Given the description of an element on the screen output the (x, y) to click on. 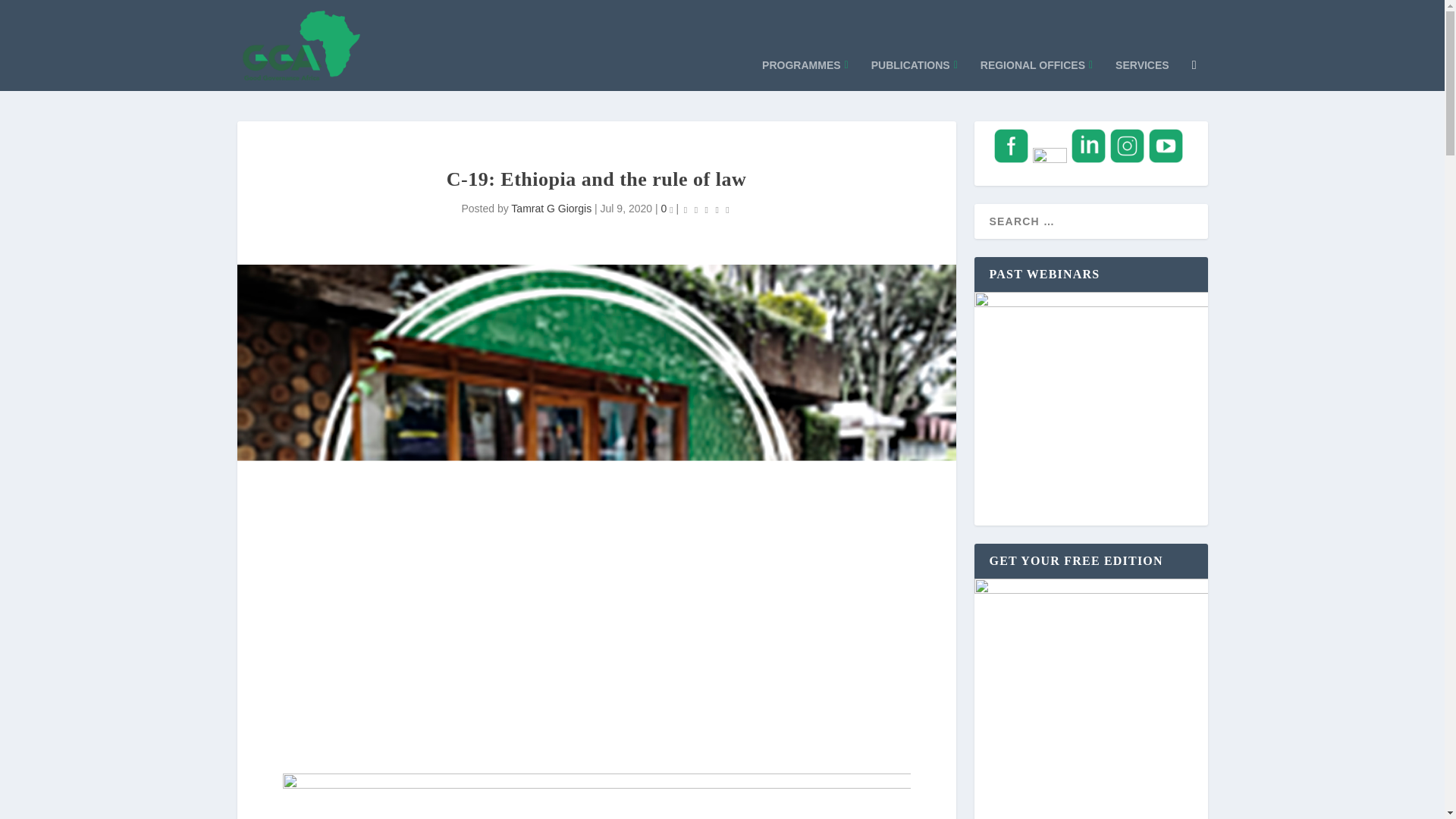
Tamrat G Giorgis (551, 208)
REGIONAL OFFICES (1036, 68)
0 (666, 208)
PROGRAMMES (804, 68)
Posts by Tamrat G Giorgis (551, 208)
PUBLICATIONS (914, 68)
SERVICES (1142, 68)
Rating: 0.00 (706, 209)
